Given the description of an element on the screen output the (x, y) to click on. 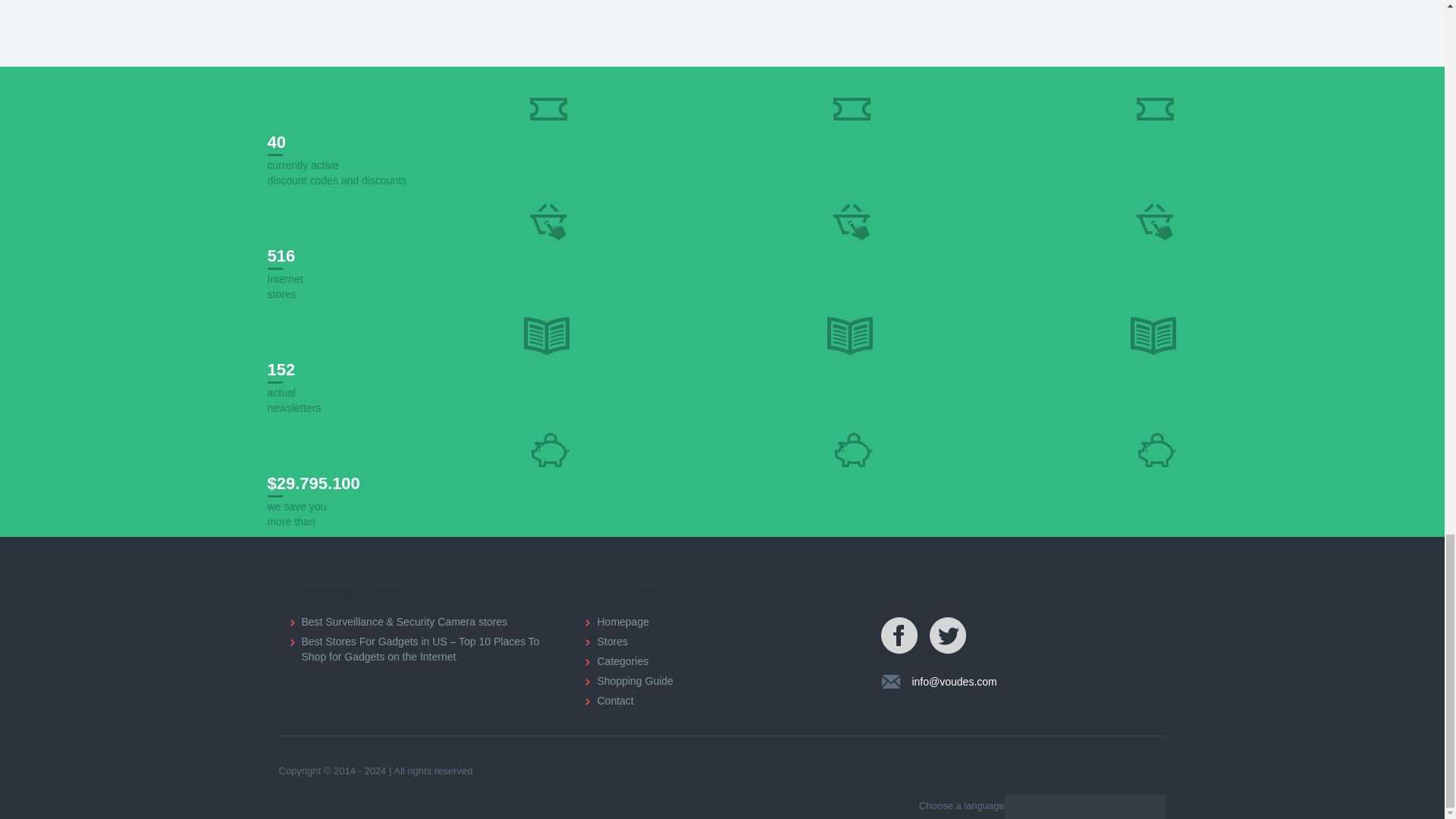
US (1084, 806)
Hungary (1063, 806)
Categories (616, 661)
Homepage (617, 621)
France (1106, 806)
Romania (1128, 806)
Czechia (1041, 806)
Facebook (899, 636)
Italy (1149, 806)
Stores (606, 641)
